Given the description of an element on the screen output the (x, y) to click on. 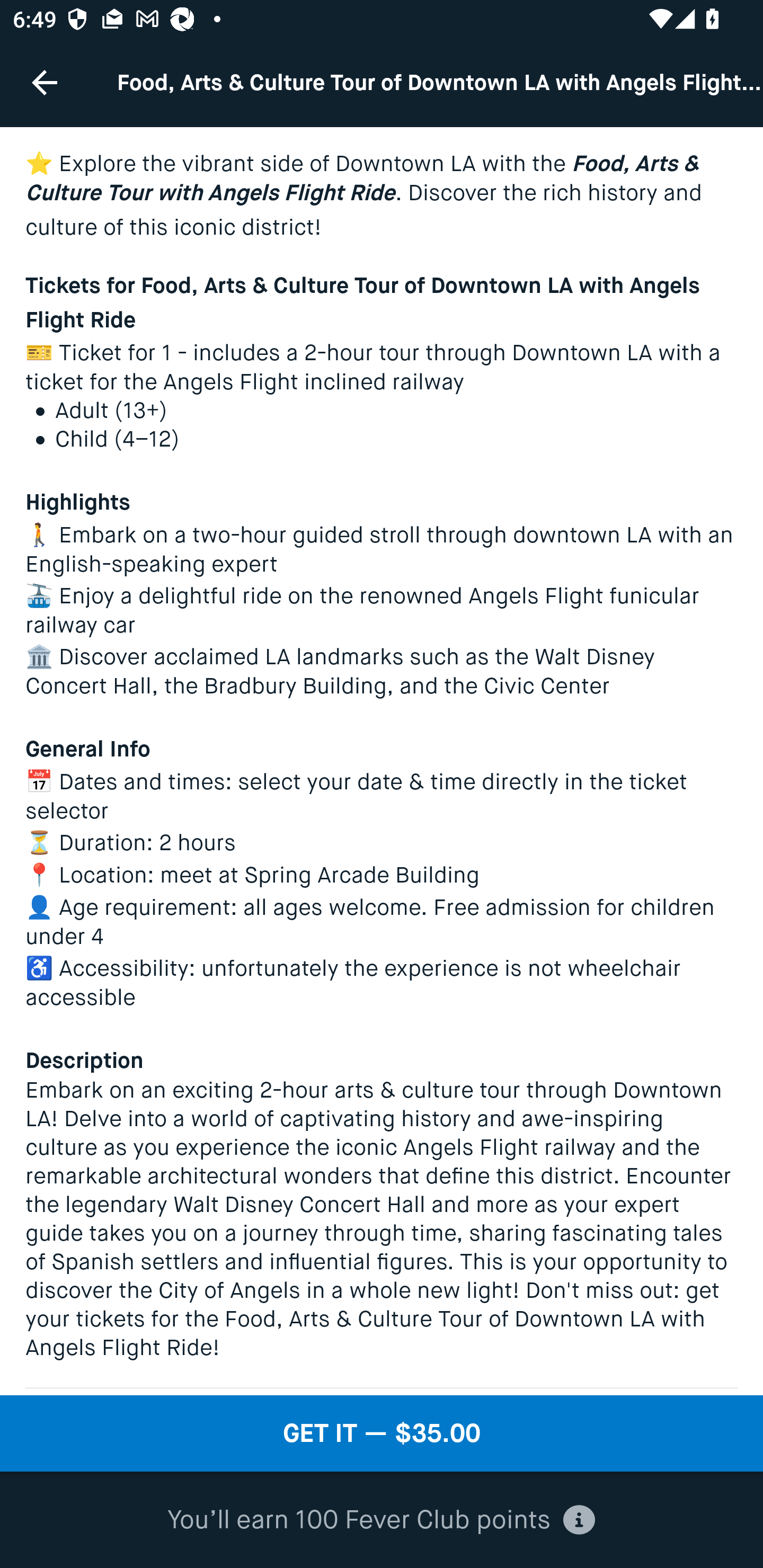
Navigate up (44, 82)
GET IT — $35.00 (381, 1433)
You’ll earn 100 Fever Club points (381, 1519)
